Given the description of an element on the screen output the (x, y) to click on. 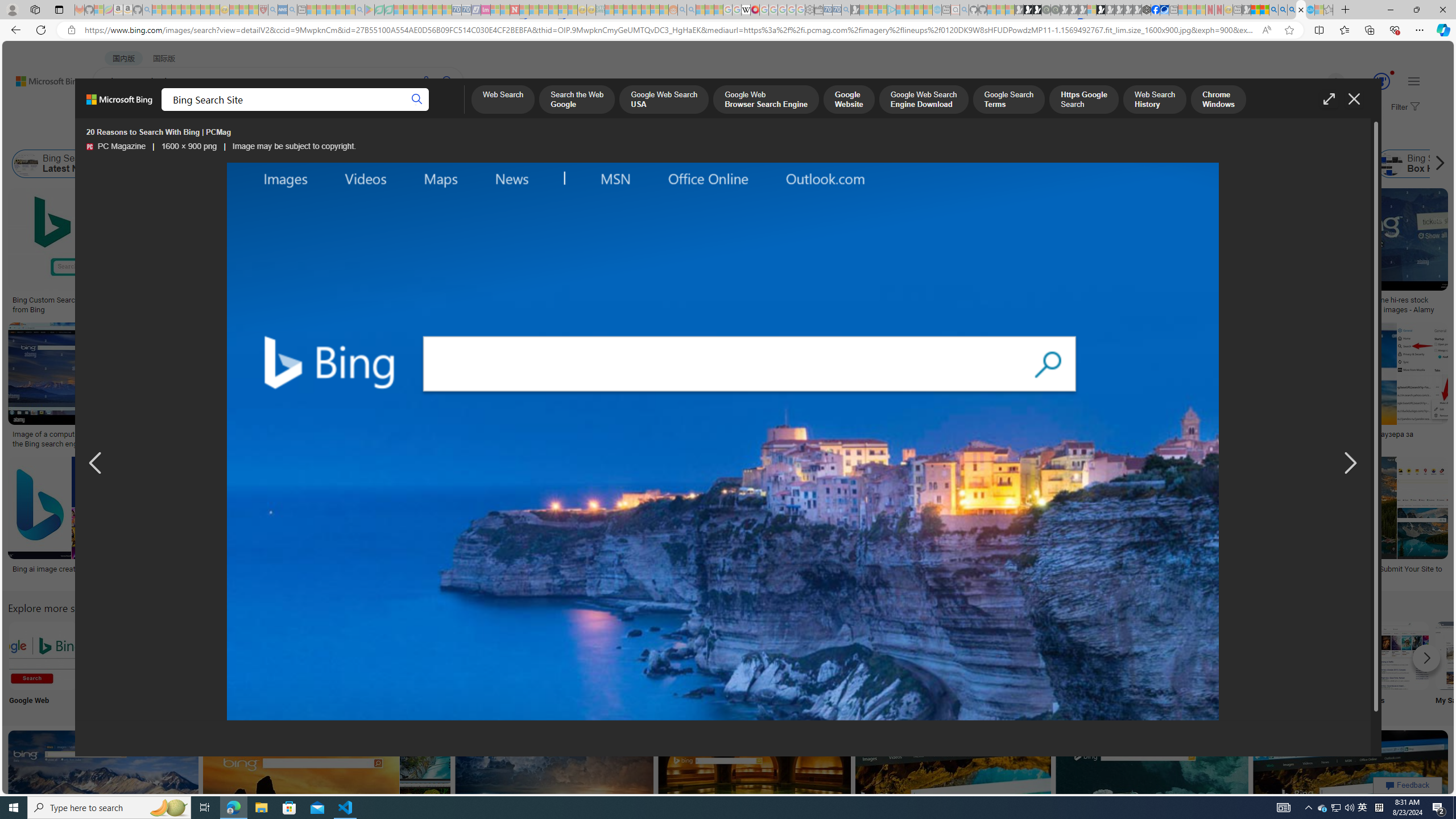
Top 10 Search engine | REALITYPOD - Part 3Save (941, 387)
Eugene (1319, 81)
Bing People Search People (568, 665)
Favorites - Sleeping (1328, 9)
Image size (126, 135)
Bing Search App Logo App Logo (118, 665)
MY BING (156, 111)
Bing Random Search Random (794, 665)
20 Reasons to Search With Bing | PCMag (621, 299)
License (377, 135)
Random (794, 665)
utah sues federal government - Search - Sleeping (291, 9)
